Given the description of an element on the screen output the (x, y) to click on. 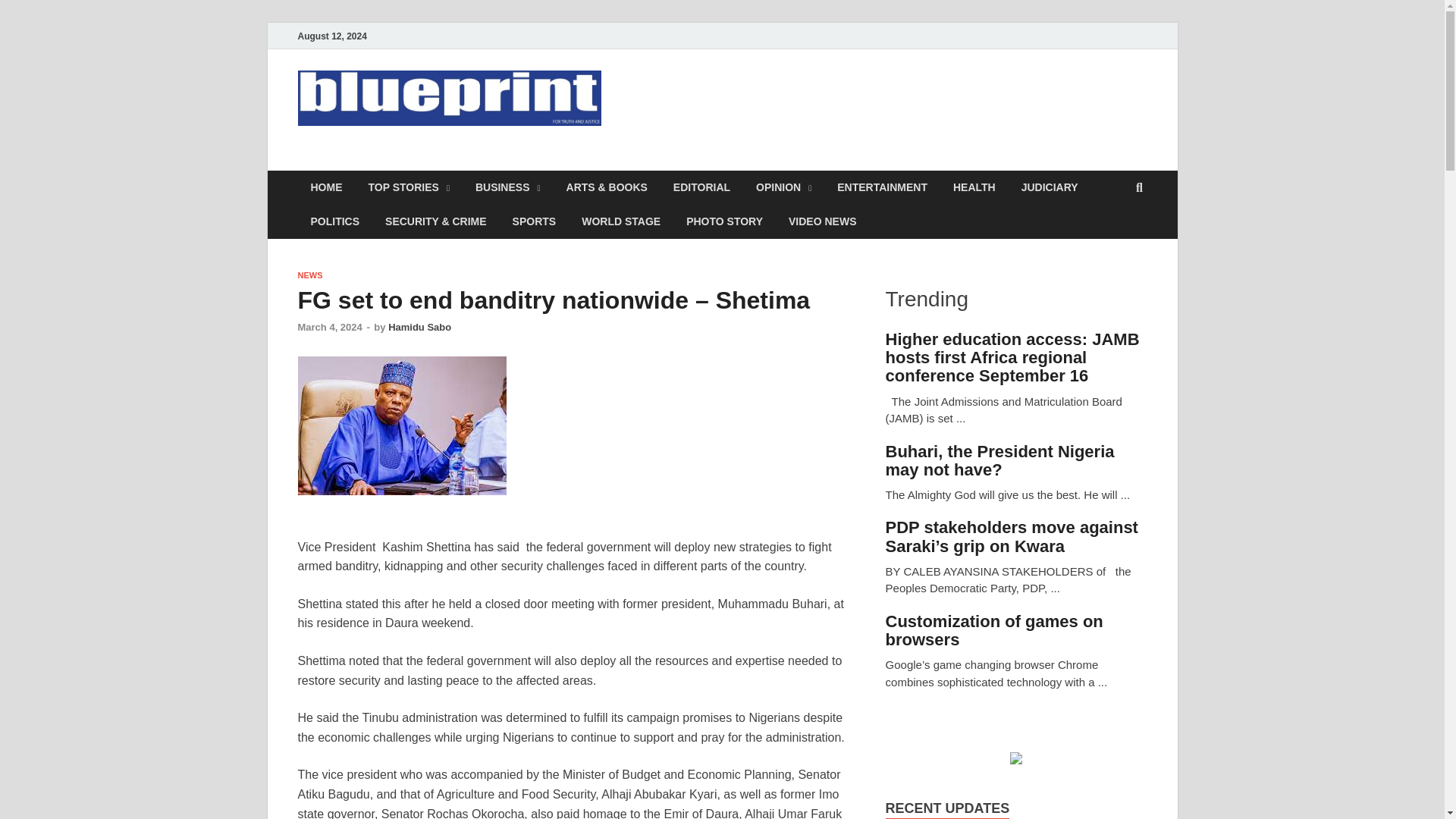
ENTERTAINMENT (882, 187)
BUSINESS (508, 187)
EDITORIAL (701, 187)
HOME (326, 187)
TOP STORIES (408, 187)
OPINION (783, 187)
Blueprint Newspapers Limited (504, 161)
